Given the description of an element on the screen output the (x, y) to click on. 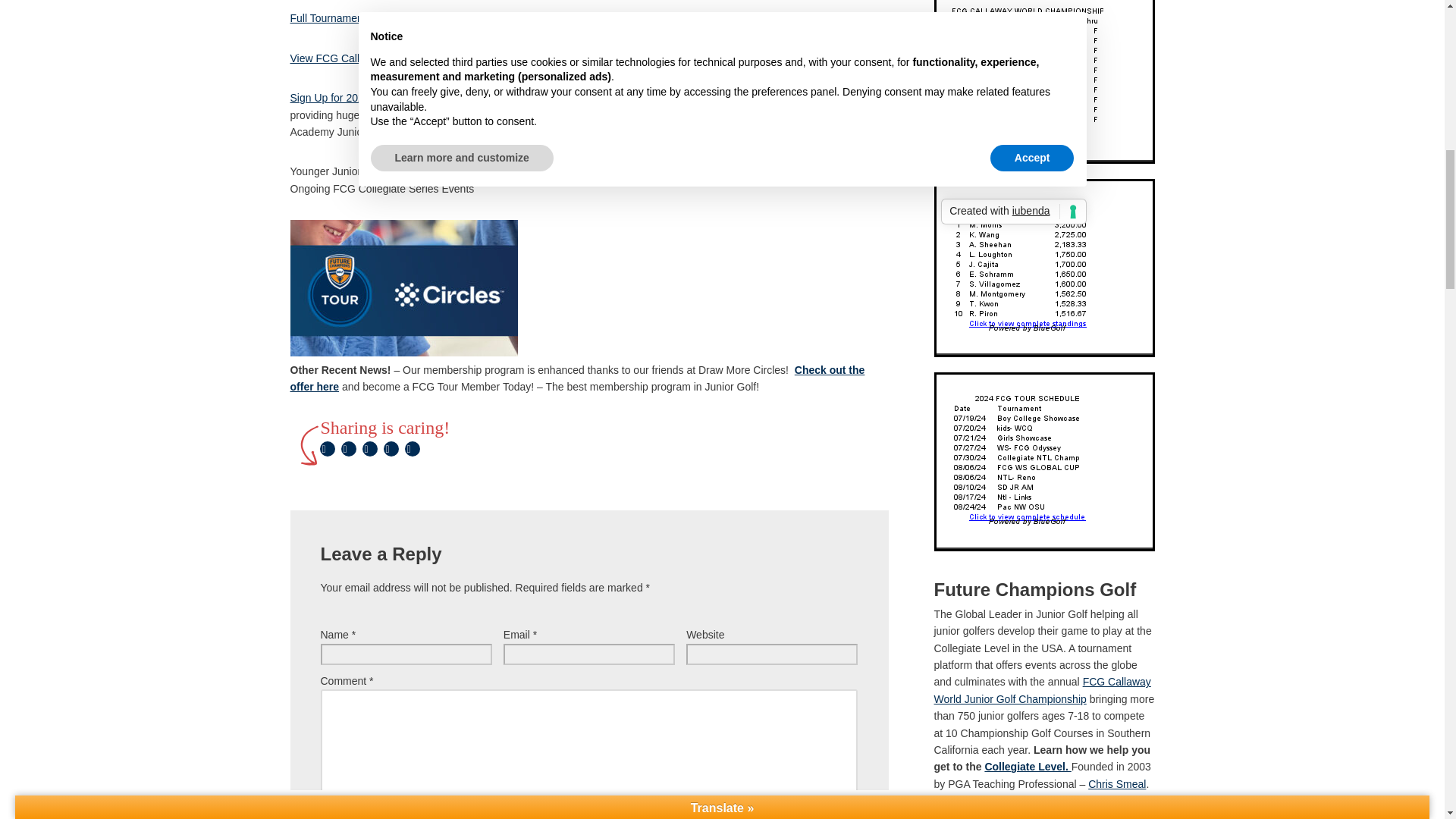
Email This (390, 448)
Facebook (348, 448)
LinkedIn (412, 448)
Pinterest (369, 448)
